Given the description of an element on the screen output the (x, y) to click on. 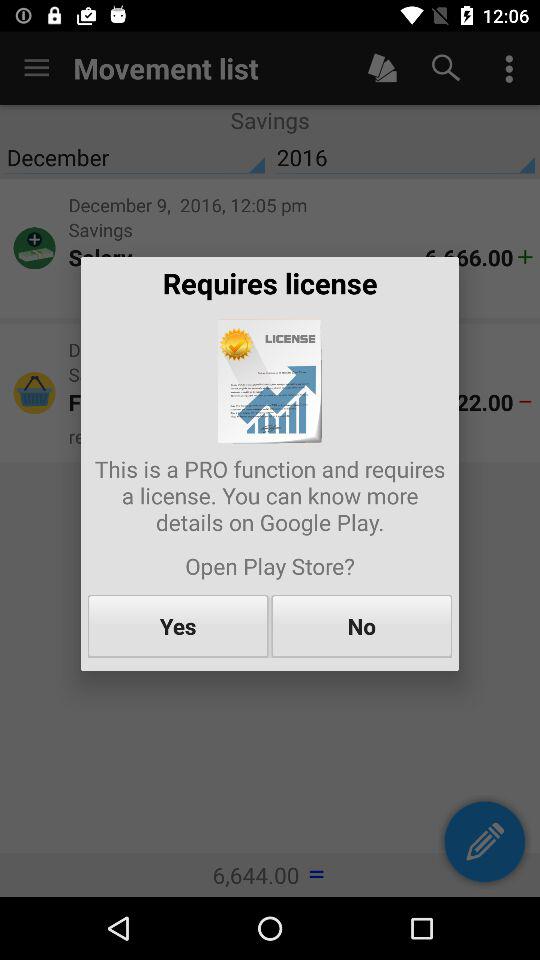
select item on the left (177, 625)
